Given the description of an element on the screen output the (x, y) to click on. 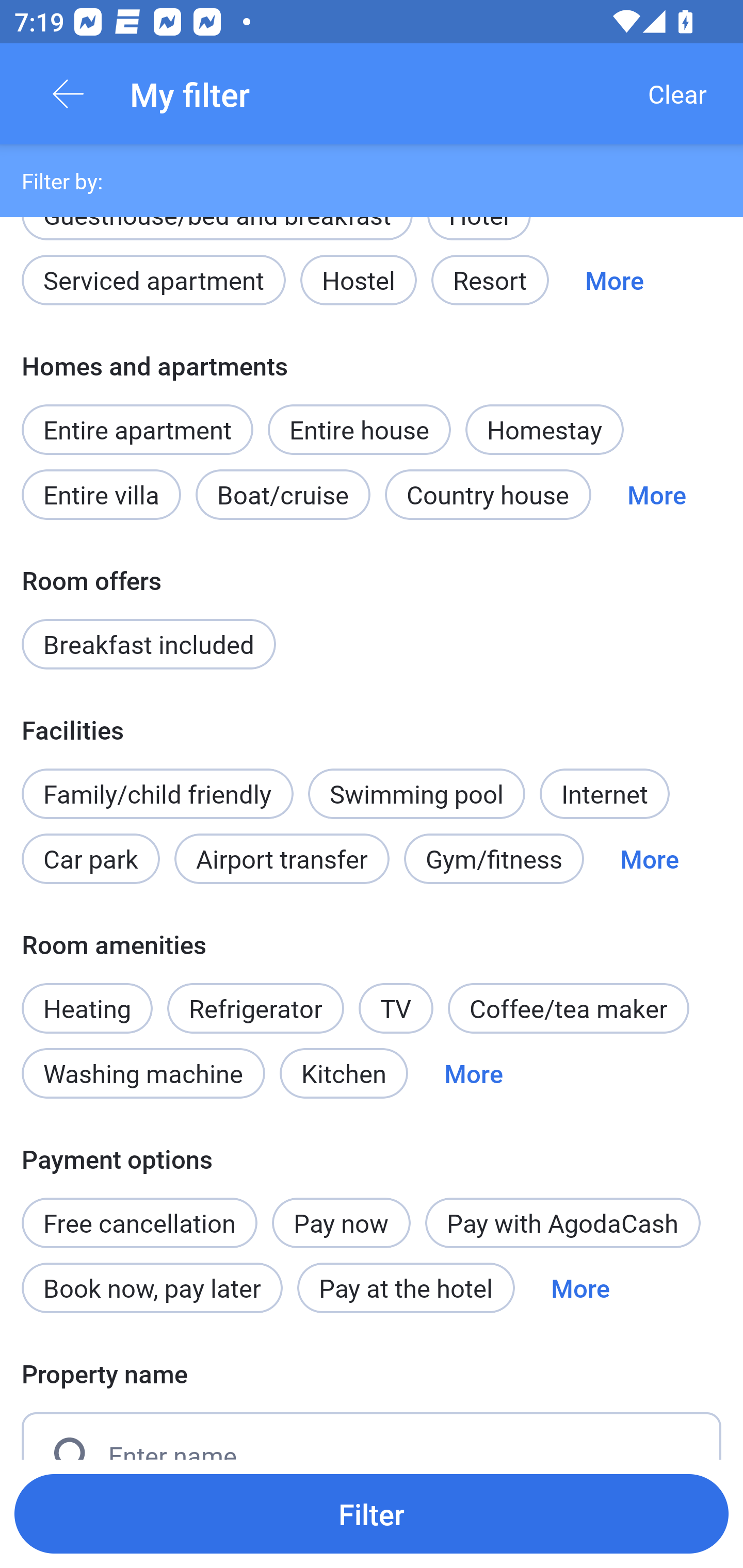
Clear (676, 93)
Serviced apartment (153, 279)
Hostel (358, 279)
Resort (490, 279)
More (614, 279)
Entire apartment (137, 429)
Entire house (359, 429)
Homestay (544, 429)
Entire villa (101, 494)
Boat/cruise (282, 494)
Country house (487, 494)
More (656, 494)
Breakfast included (148, 643)
Family/child friendly (157, 794)
Swimming pool (416, 794)
Internet (604, 794)
Car park (90, 858)
Airport transfer (281, 858)
Gym/fitness (493, 858)
More (649, 858)
Heating (87, 997)
Refrigerator (255, 1008)
TV (395, 1008)
Coffee/tea maker (568, 1008)
Washing machine (143, 1073)
Kitchen (343, 1073)
More (473, 1073)
Free cancellation (139, 1211)
Pay now (340, 1222)
Pay with AgodaCash (562, 1222)
Book now, pay later (152, 1287)
Pay at the hotel (405, 1287)
More (580, 1287)
Enter name (371, 1435)
Filter (371, 1513)
